Given the description of an element on the screen output the (x, y) to click on. 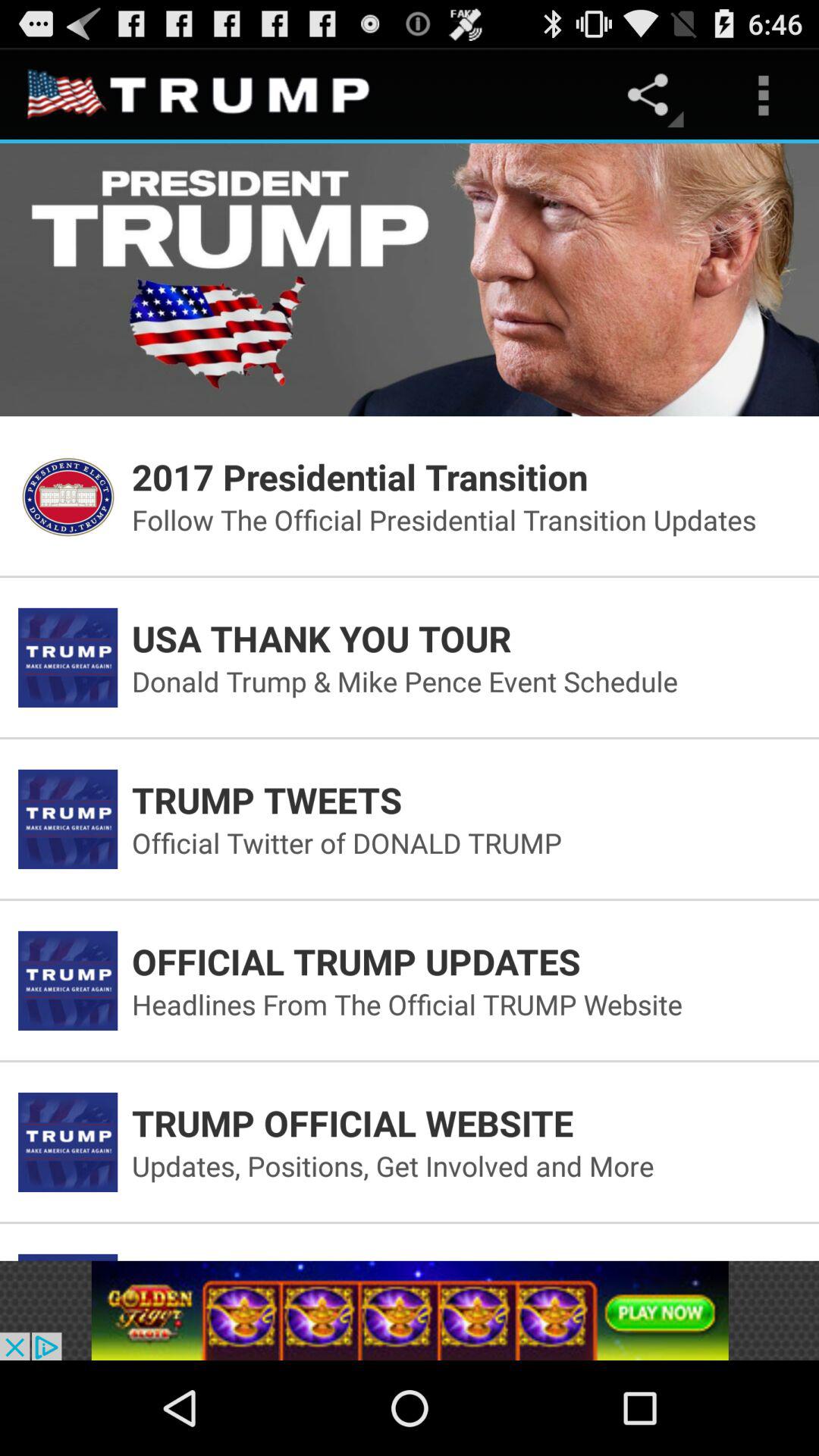
go to advertisement (409, 1310)
